Given the description of an element on the screen output the (x, y) to click on. 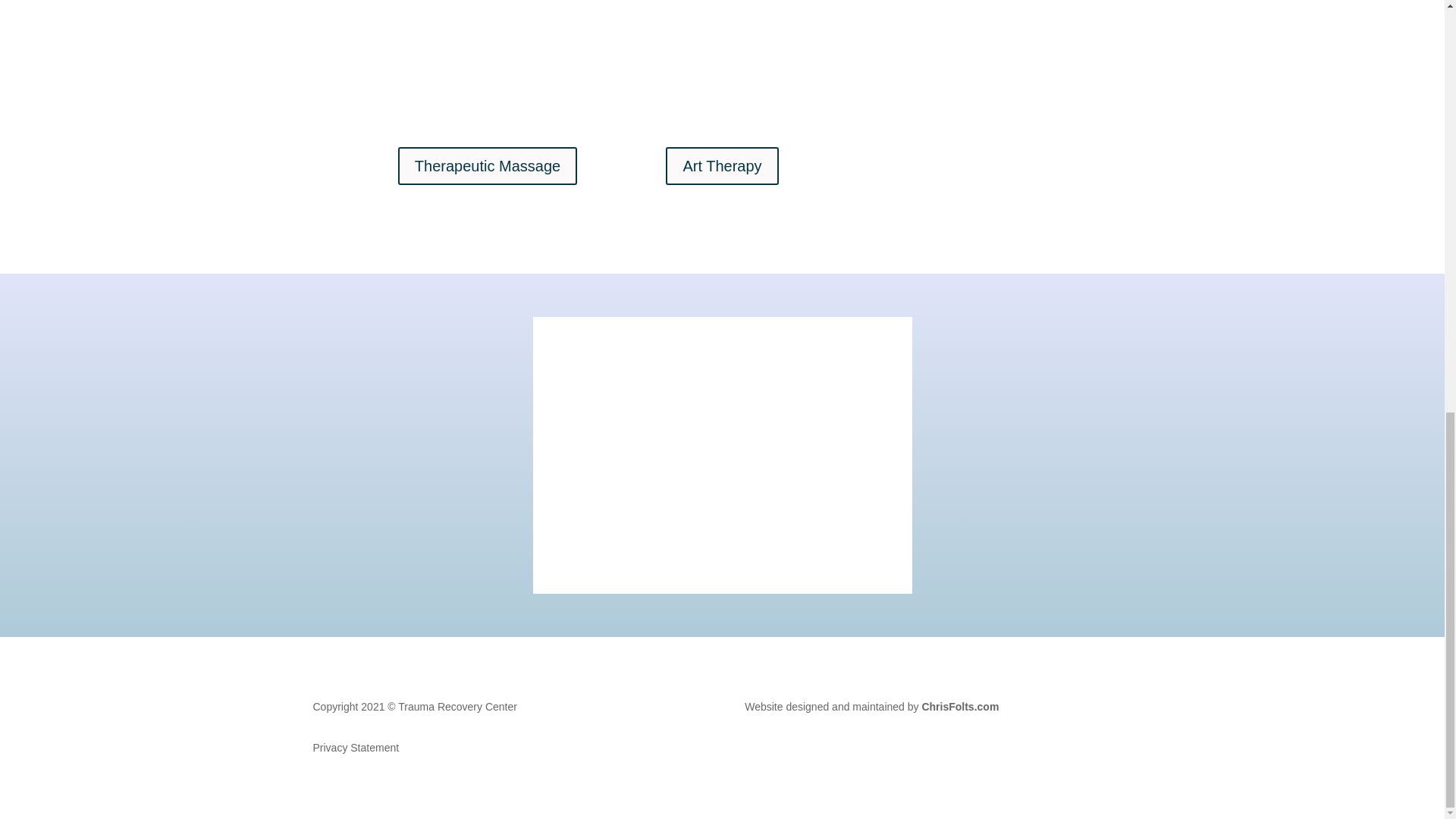
Therapeutic Massage (486, 166)
Art Therapy (721, 166)
